Given the description of an element on the screen output the (x, y) to click on. 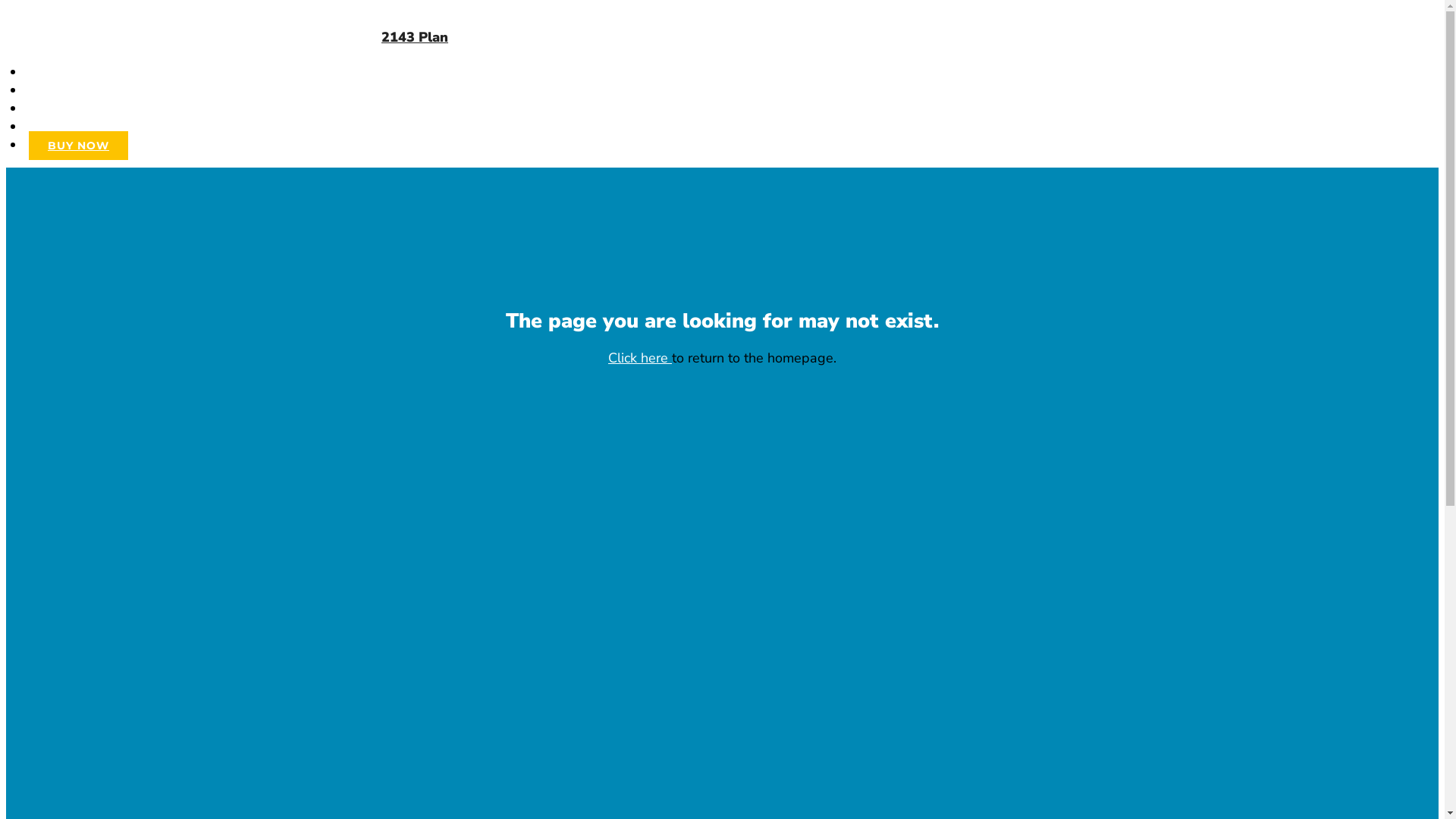
Click here Element type: text (639, 357)
REVIEWS Element type: text (75, 126)
2143 Plan Element type: text (414, 36)
TOGGLE NAVIGATION Element type: text (173, 30)
BUY NOW Element type: text (78, 145)
ABOUT Element type: text (69, 108)
CONTENT Element type: text (76, 90)
